Given the description of an element on the screen output the (x, y) to click on. 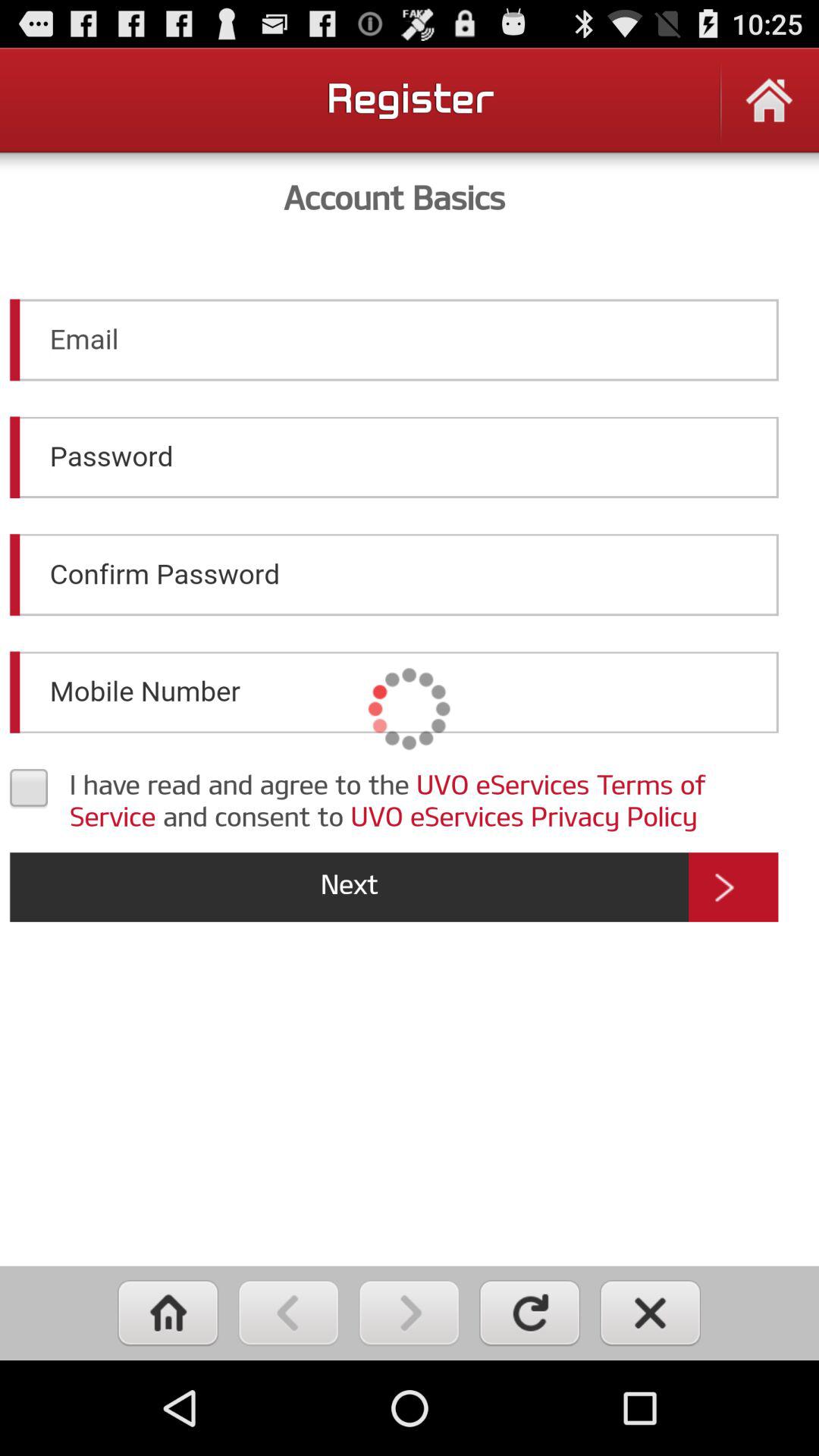
fill out account info (409, 708)
